Given the description of an element on the screen output the (x, y) to click on. 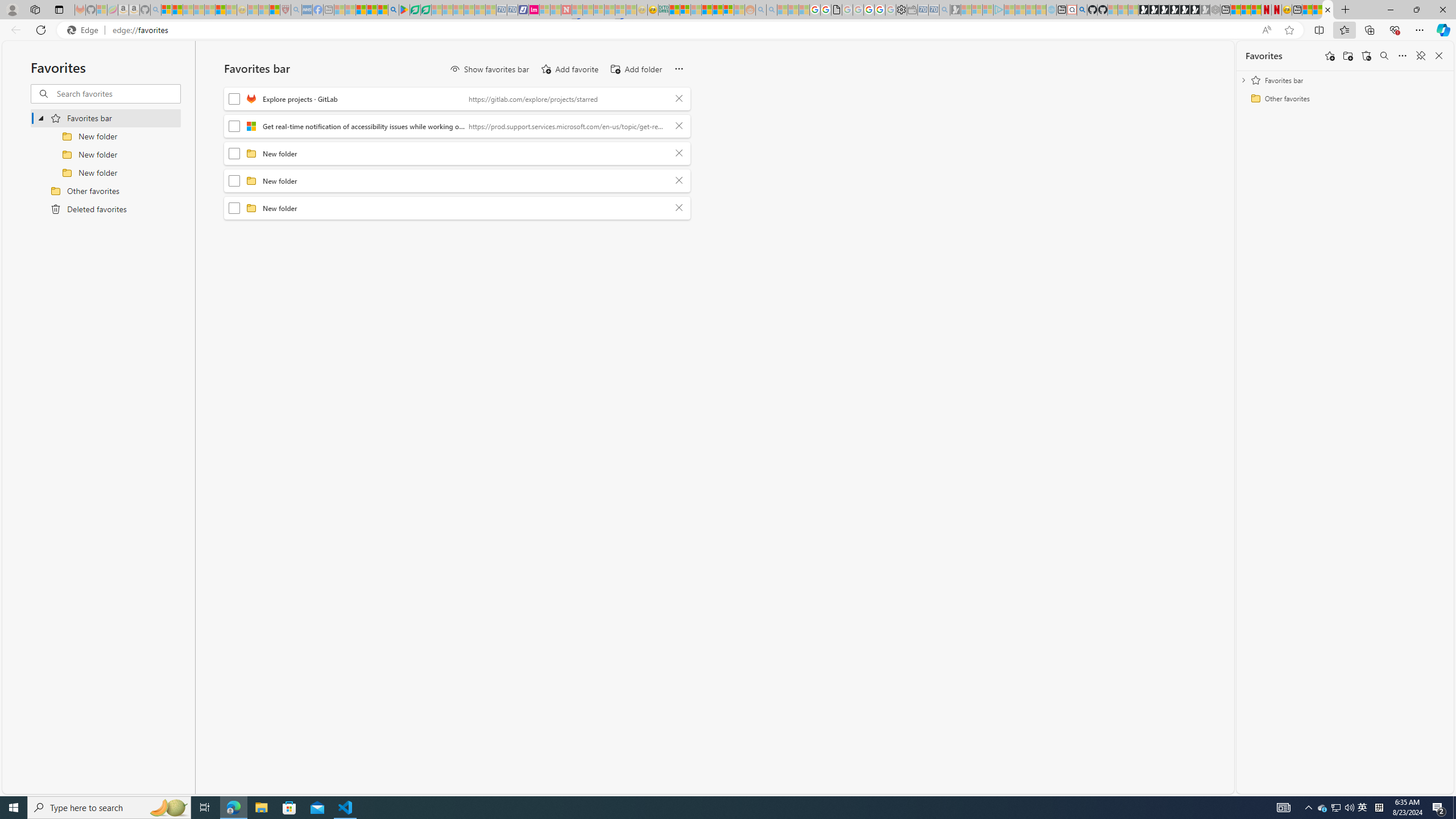
Jobs - lastminute.com Investor Portal (534, 9)
Add favorite (569, 69)
MSNBC - MSN (673, 9)
Wildlife - MSN (1307, 9)
Search favorites (117, 93)
Cheap Hotels - Save70.com - Sleeping (512, 9)
App bar (728, 29)
New Report Confirms 2023 Was Record Hot | Watch - Sleeping (209, 9)
